Given the description of an element on the screen output the (x, y) to click on. 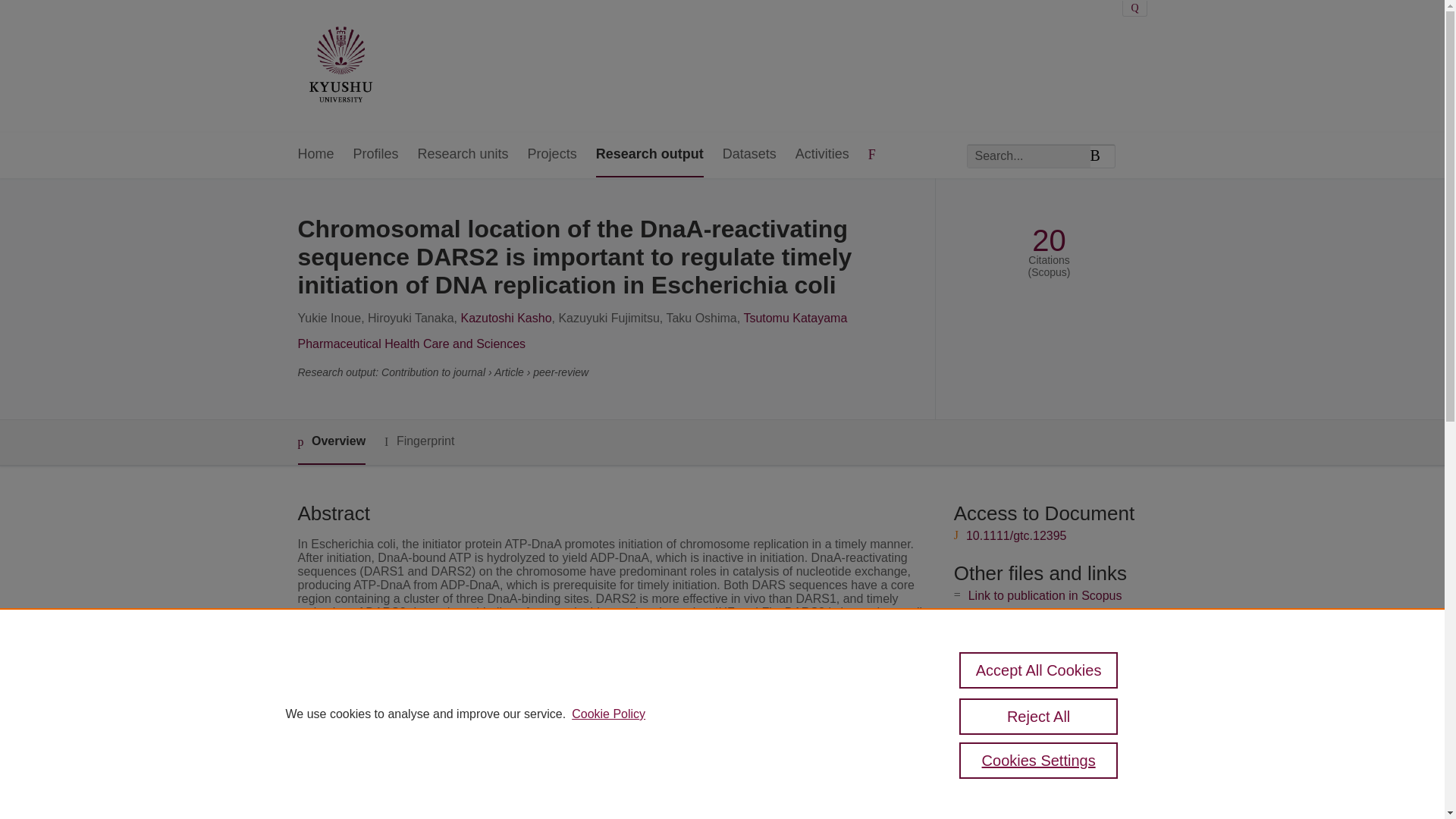
Pharmaceutical Health Care and Sciences (411, 343)
Research output (649, 154)
Kazutoshi Kasho (505, 318)
Fingerprint (419, 441)
Activities (821, 154)
Link to the citations in Scopus (1048, 620)
20 (1048, 240)
Profiles (375, 154)
Research units (462, 154)
